Given the description of an element on the screen output the (x, y) to click on. 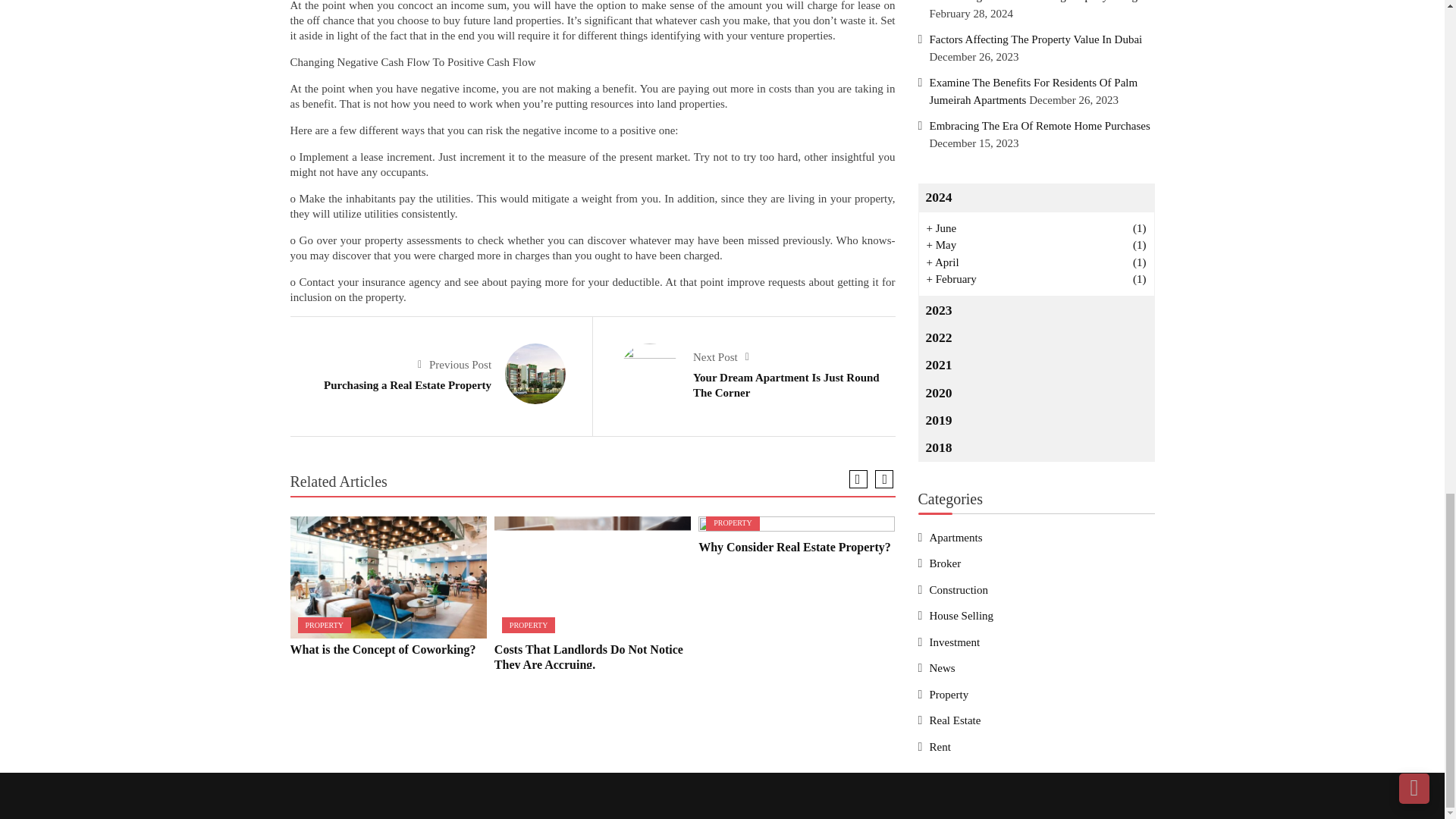
Costs That Landlords Do Not Notice They Are Accruing. (592, 577)
Why Consider Real Estate Property? (796, 526)
What is the Concept of Coworking? (387, 577)
